Given the description of an element on the screen output the (x, y) to click on. 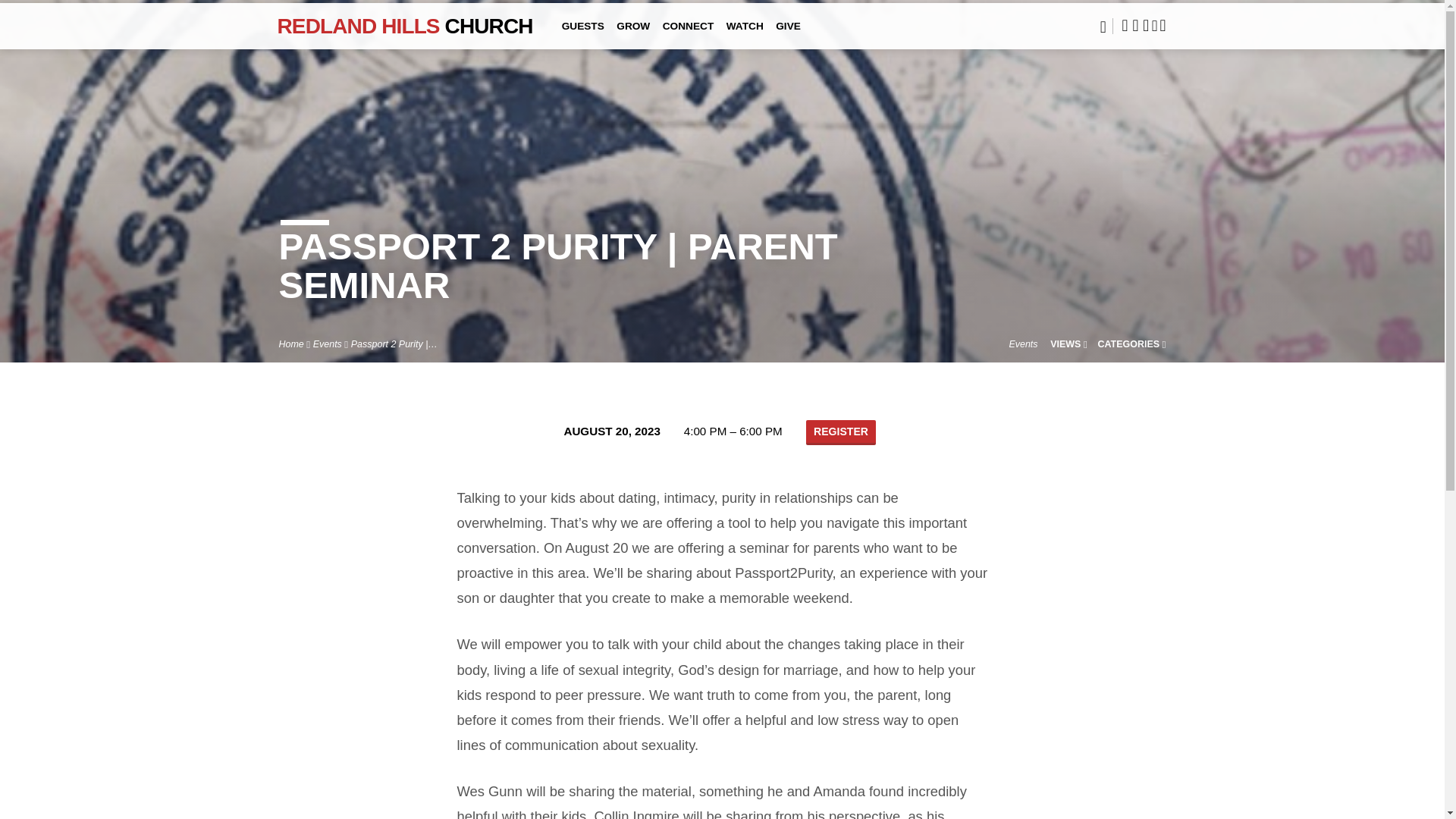
Events (327, 344)
VIEWS (1068, 344)
CATEGORIES (1131, 344)
REGISTER (841, 432)
CONNECT (688, 35)
GROW (632, 35)
REDLAND HILLS CHURCH (405, 24)
Home (291, 344)
GUESTS (583, 35)
WATCH (744, 35)
